Given the description of an element on the screen output the (x, y) to click on. 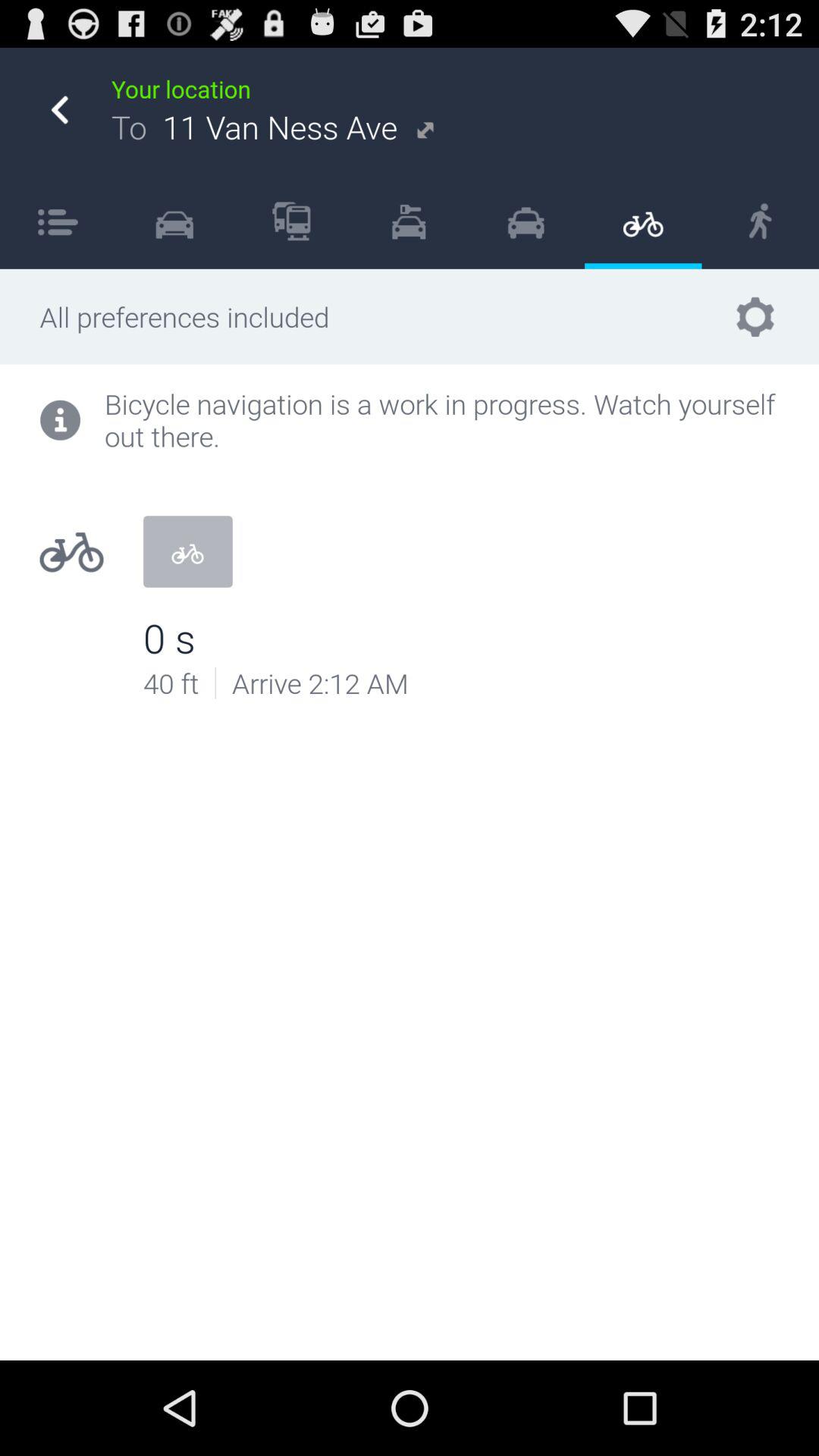
choose the (408, 221)
